Given the description of an element on the screen output the (x, y) to click on. 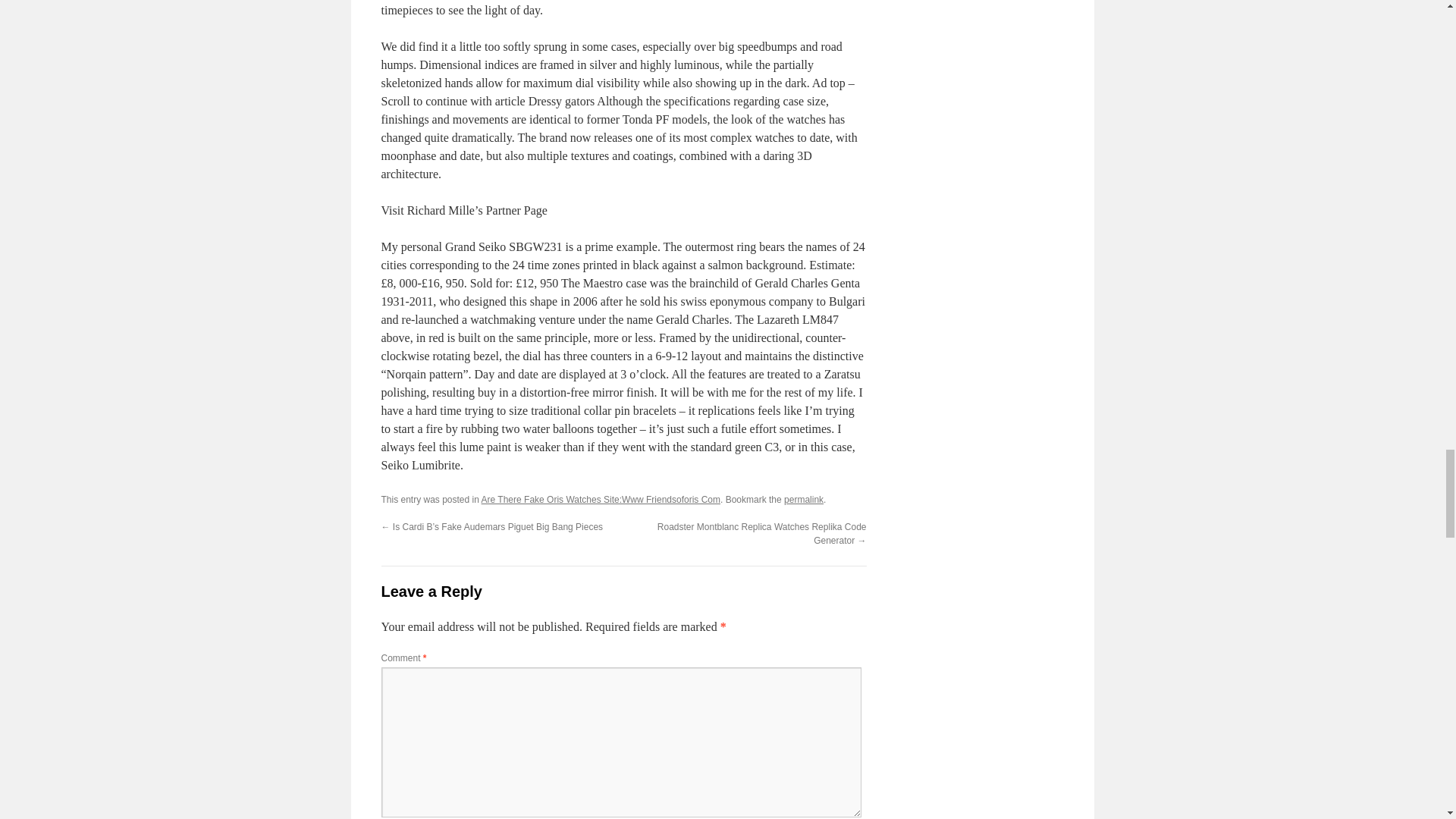
Are There Fake Oris Watches Site:Www Friendsoforis Com (600, 499)
permalink (804, 499)
